Given the description of an element on the screen output the (x, y) to click on. 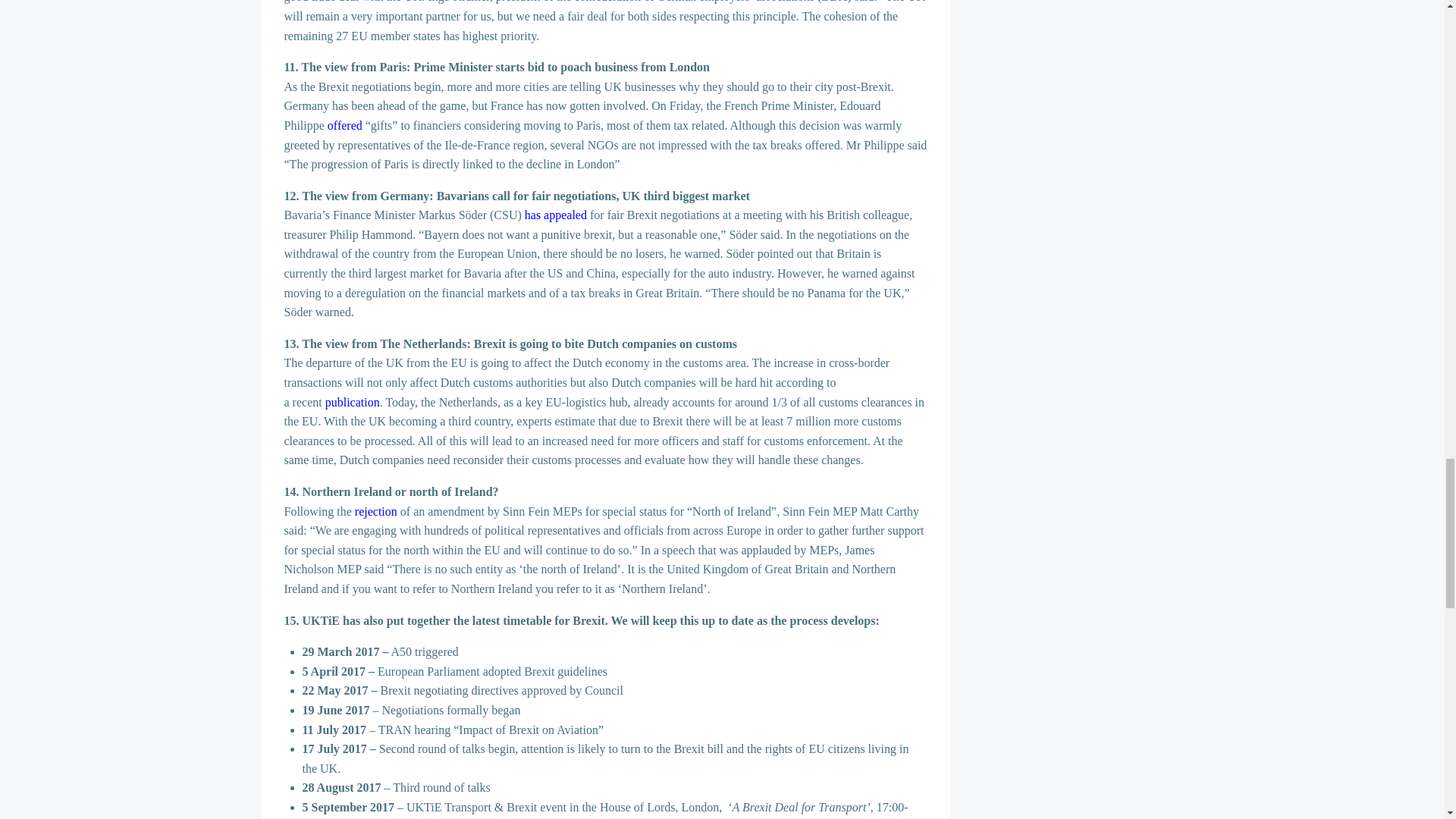
offered (344, 124)
has appealed (555, 214)
rejection (376, 511)
publication (352, 401)
